Given the description of an element on the screen output the (x, y) to click on. 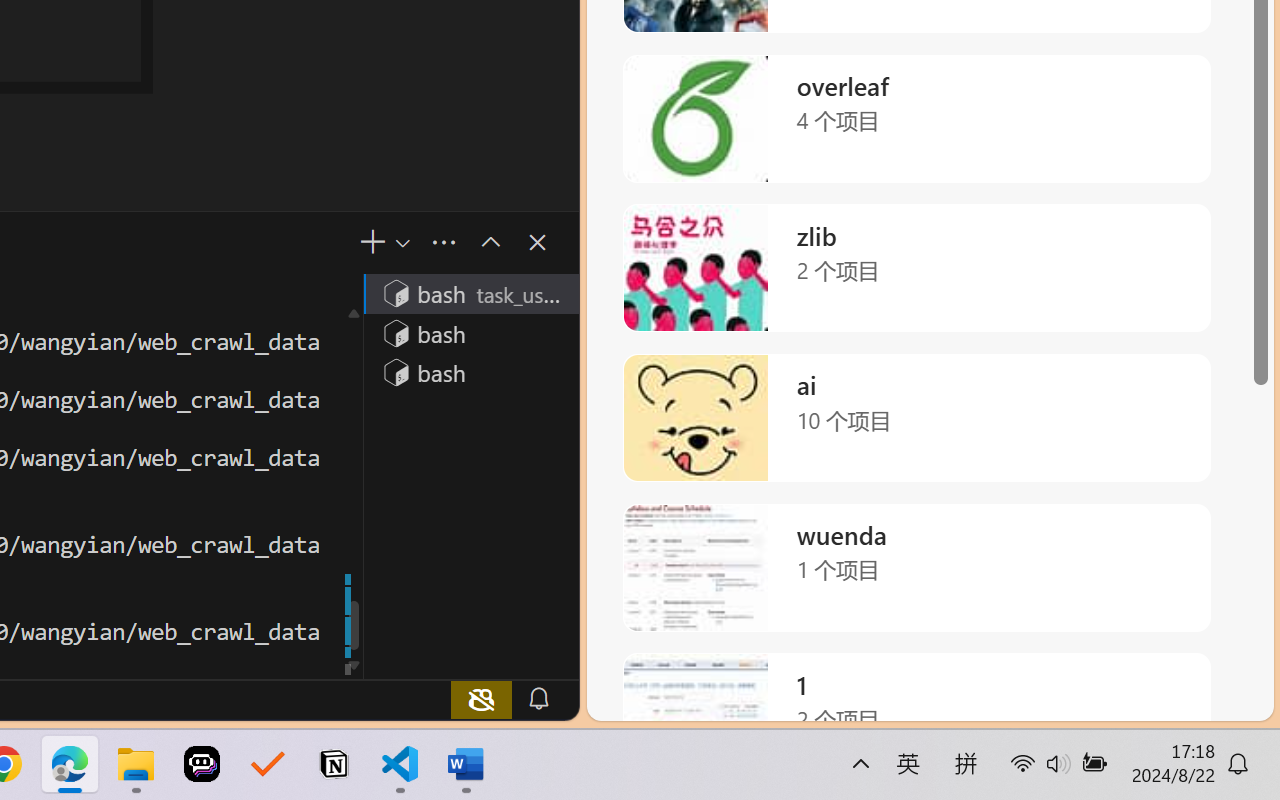
Terminal 1 bash (470, 292)
Launch Profile... (401, 243)
Terminal 2 bash (470, 332)
copilot-notconnected, Copilot error (click for details) (481, 698)
Views and More Actions... (442, 243)
Notifications (537, 698)
Class: actions-container (516, 242)
Terminal 3 bash (470, 372)
Close Panel (535, 242)
Class: xterm-decoration-overview-ruler (352, 486)
